Given the description of an element on the screen output the (x, y) to click on. 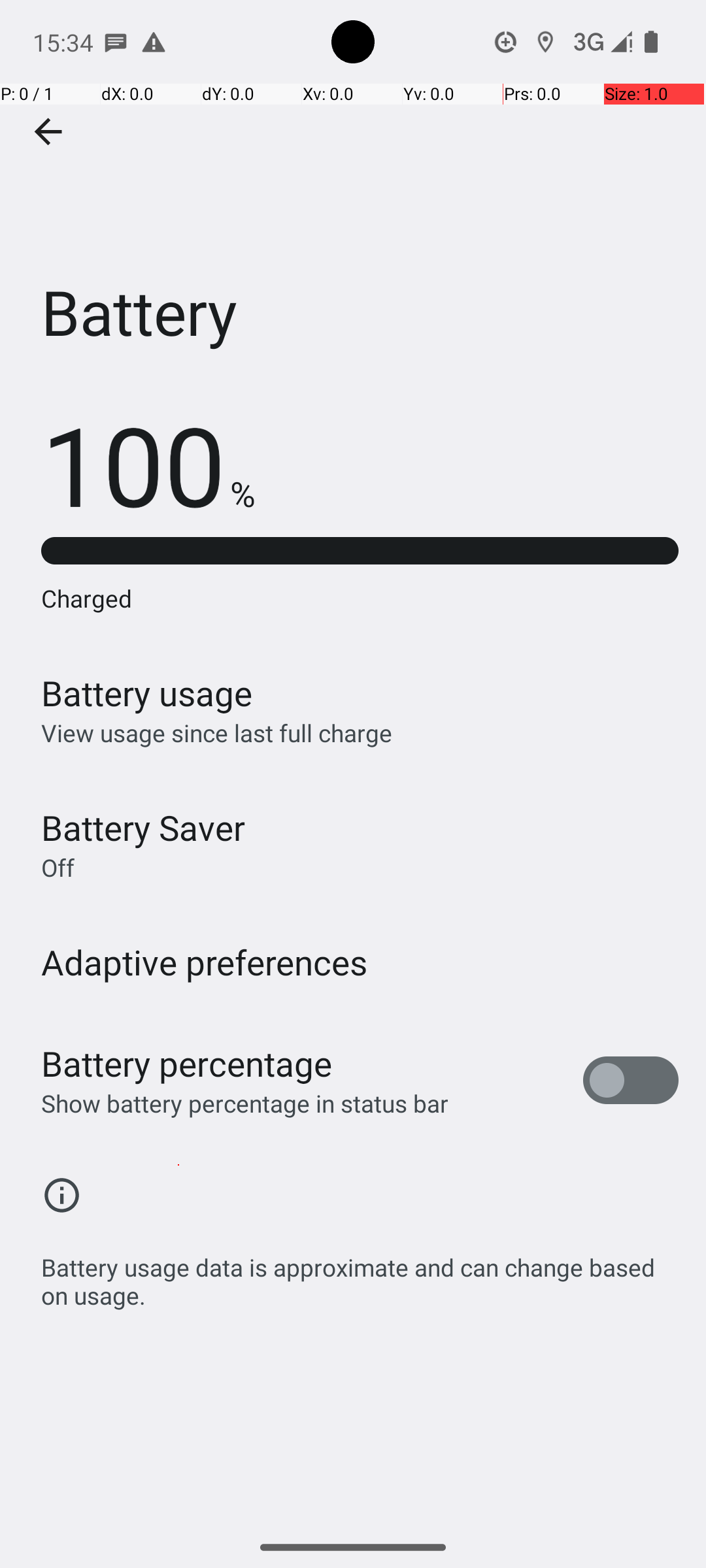
100 % Element type: android.widget.TextView (147, 463)
Charged Element type: android.widget.TextView (359, 597)
Battery usage Element type: android.widget.TextView (146, 692)
View usage since last full charge Element type: android.widget.TextView (216, 732)
Battery Saver Element type: android.widget.TextView (143, 827)
Adaptive preferences Element type: android.widget.TextView (204, 961)
Battery percentage Element type: android.widget.TextView (186, 1063)
Show battery percentage in status bar Element type: android.widget.TextView (244, 1102)
Battery usage data is approximate and can change based on usage. Element type: android.widget.TextView (359, 1274)
